Given the description of an element on the screen output the (x, y) to click on. 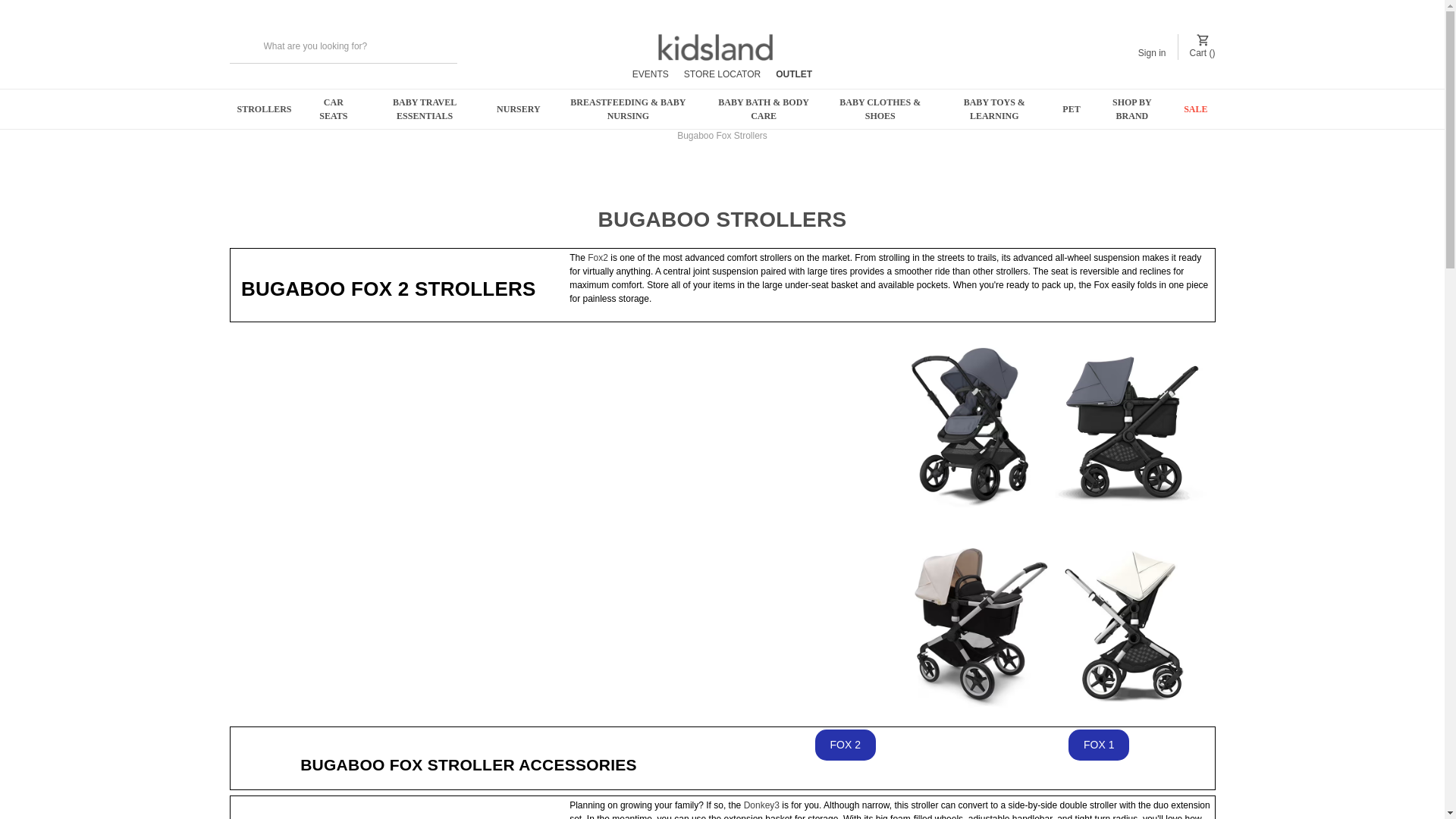
STORE LOCATOR (722, 73)
EVENTS (649, 73)
STROLLERS (263, 108)
Kidsland (715, 45)
BABY TRAVEL ESSENTIALS (424, 108)
CAR SEATS (333, 108)
Sign in (1152, 45)
OUTLET (794, 73)
